Given the description of an element on the screen output the (x, y) to click on. 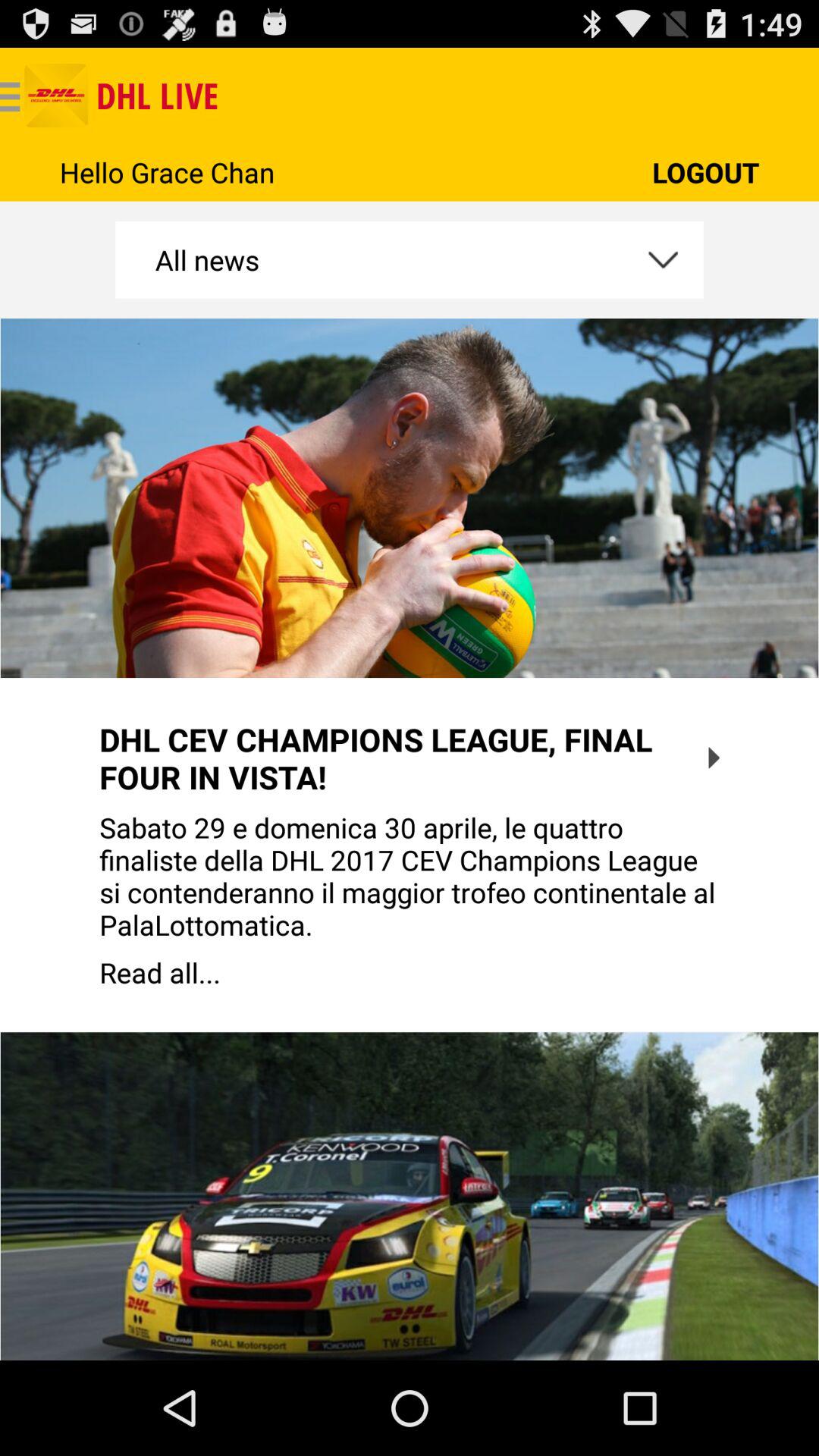
choose app to the right of the dhl cev champions (713, 757)
